Given the description of an element on the screen output the (x, y) to click on. 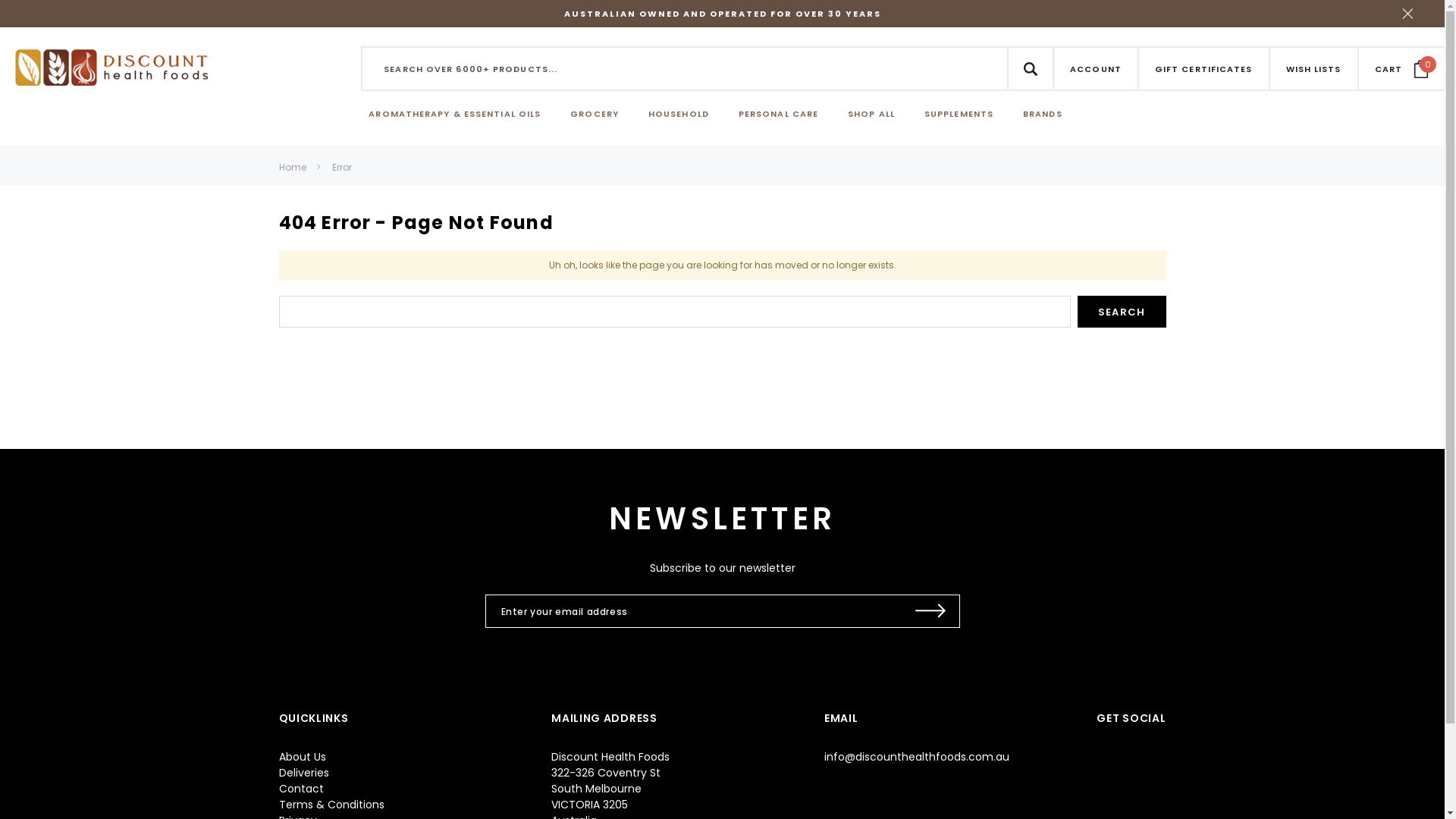
Terms & Conditions Element type: text (331, 804)
SHOP ALL Element type: text (870, 114)
GIFT CERTIFICATES Element type: text (1203, 68)
AROMATHERAPY & ESSENTIAL OILS Element type: text (454, 114)
CART
0 Element type: text (1401, 68)
PERSONAL CARE Element type: text (778, 114)
Contact Element type: text (301, 788)
About Us Element type: text (302, 756)
HOUSEHOLD Element type: text (678, 114)
Discount Health Foods Element type: hover (111, 66)
Home Element type: text (292, 166)
SUPPLEMENTS Element type: text (958, 114)
WISH LISTS Element type: text (1313, 68)
info@discounthealthfoods.com.au Element type: text (916, 756)
ACCOUNT Element type: text (1095, 68)
GROCERY Element type: text (594, 114)
Search Element type: text (1121, 311)
Error Element type: text (341, 166)
BRANDS Element type: text (1042, 114)
Deliveries Element type: text (304, 772)
